Given the description of an element on the screen output the (x, y) to click on. 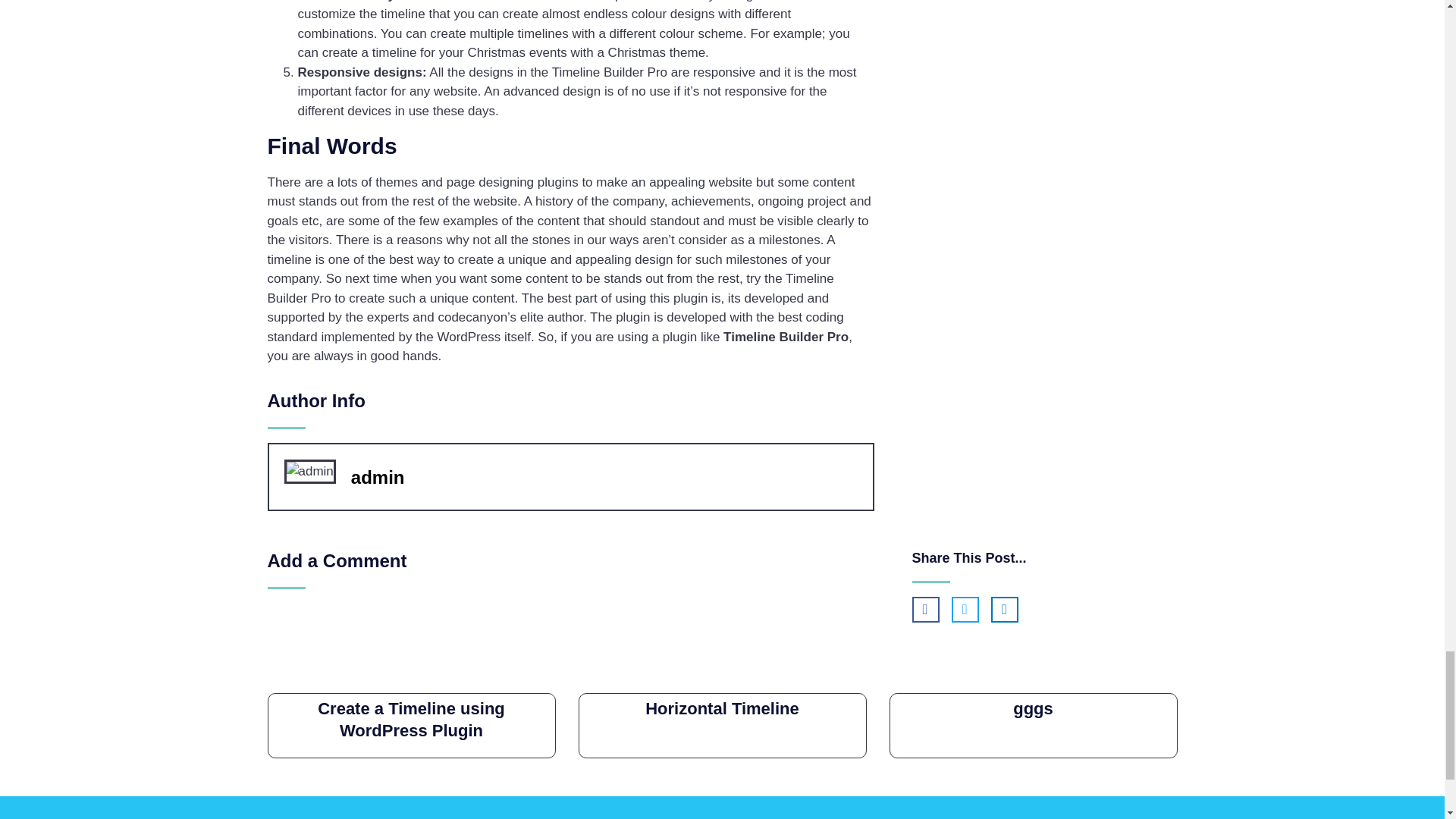
Horizontal Timeline (722, 708)
Create a Timeline using WordPress Plugin (411, 720)
gggs (1032, 708)
